Given the description of an element on the screen output the (x, y) to click on. 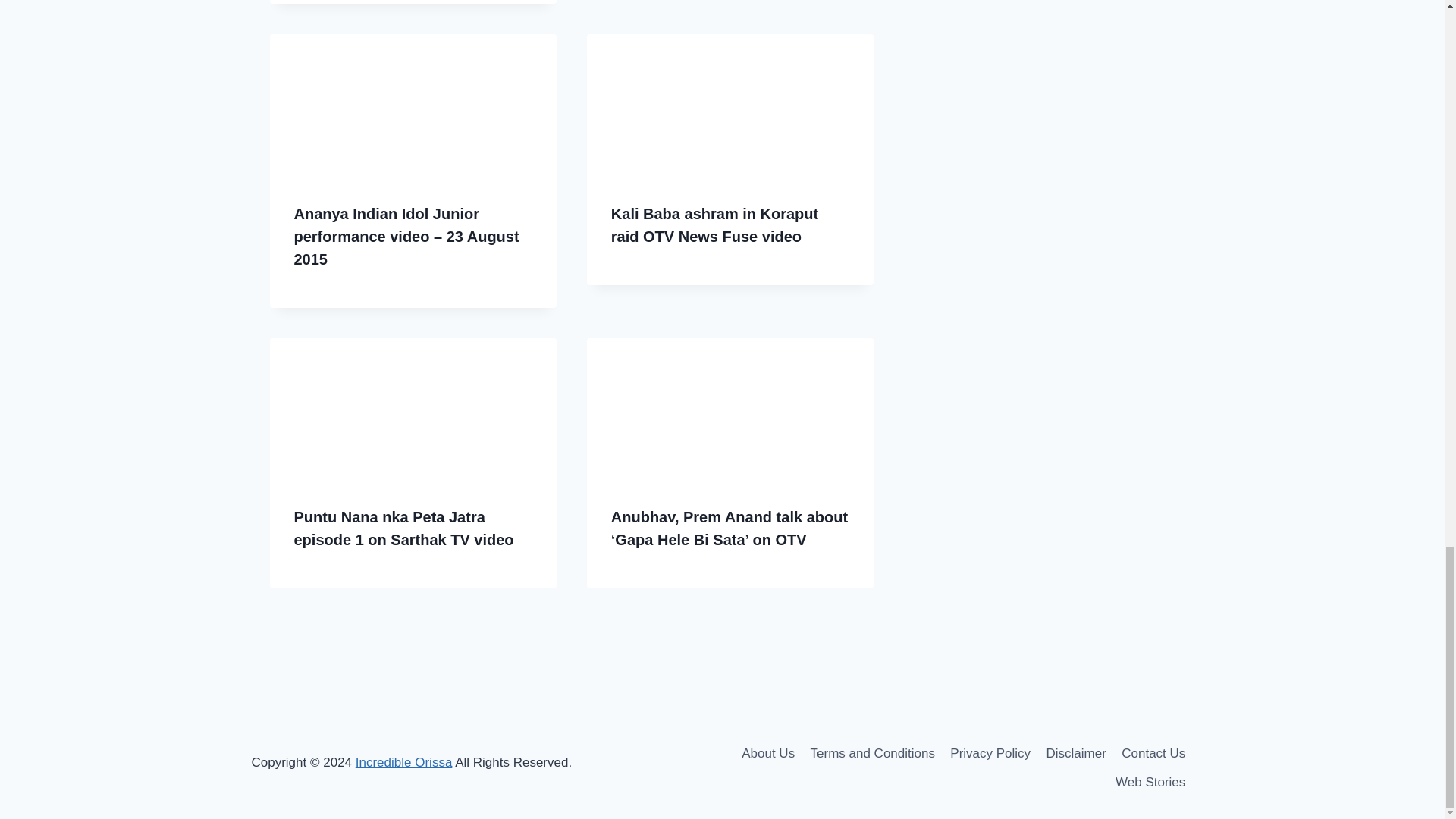
Puntu Nana nka Peta Jatra episode 1 on Sarthak TV video (403, 527)
Kali Baba ashram in Koraput raid OTV News Fuse video (714, 224)
